Given the description of an element on the screen output the (x, y) to click on. 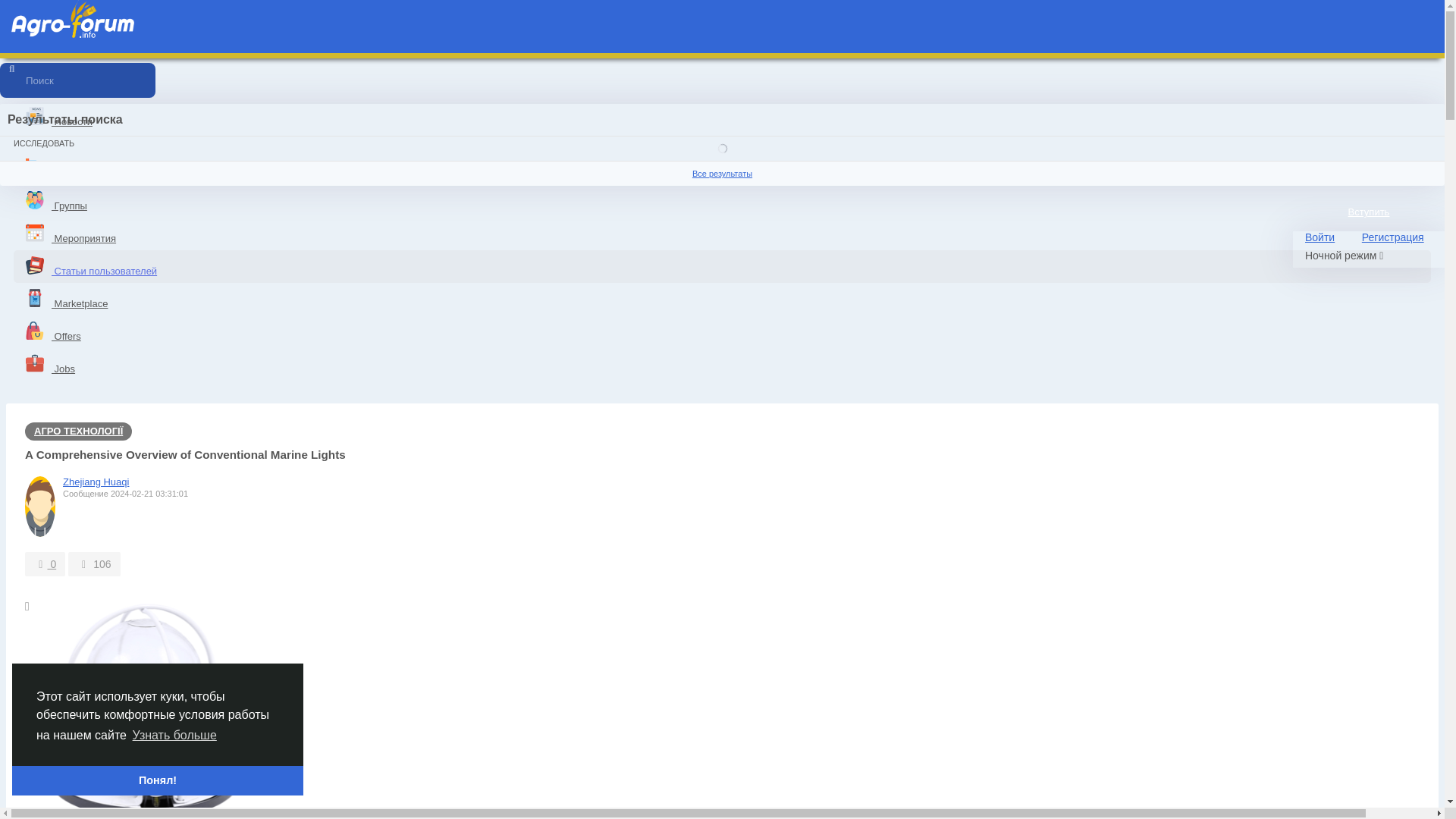
Marketplace (722, 298)
Jobs (722, 364)
0 (44, 564)
Zhejiang Huaqi (95, 481)
Offers (722, 331)
